Given the description of an element on the screen output the (x, y) to click on. 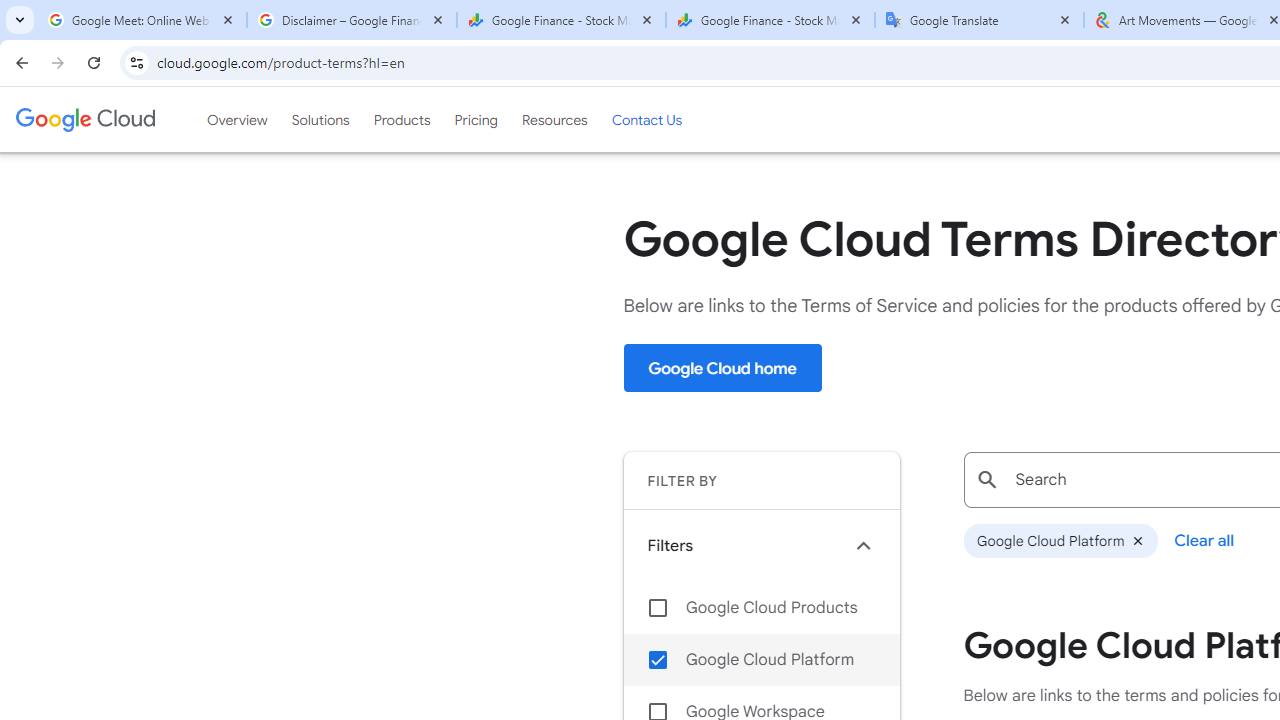
Google Translate (979, 20)
Google Cloud Platform (761, 660)
Clear all (1204, 539)
Resources (553, 119)
Contact Us (646, 119)
Google Cloud (84, 119)
Solutions (320, 119)
Pricing (476, 119)
